Given the description of an element on the screen output the (x, y) to click on. 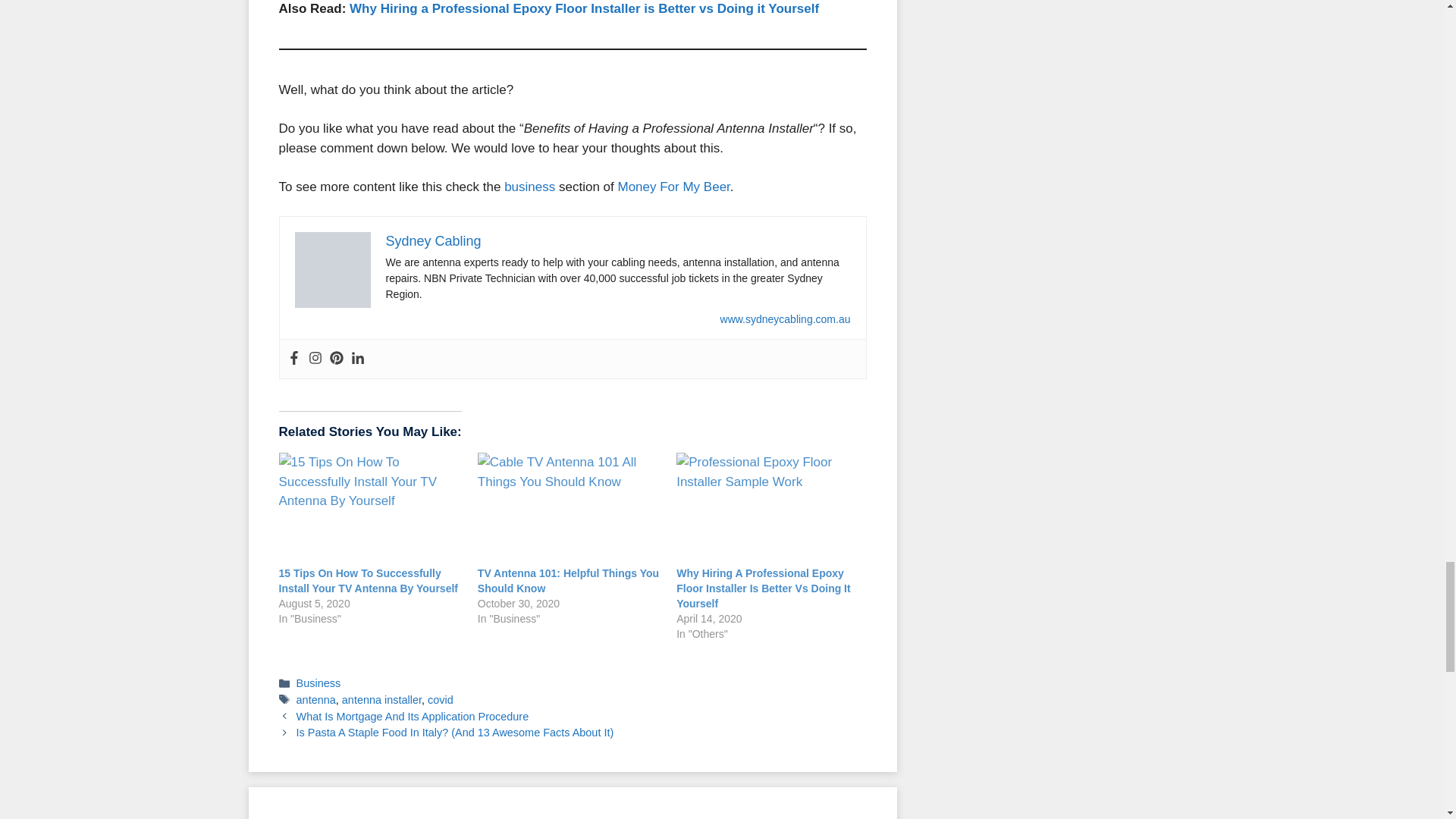
Benefits Of Having A Professional Antenna Installer 3 (331, 269)
